Given the description of an element on the screen output the (x, y) to click on. 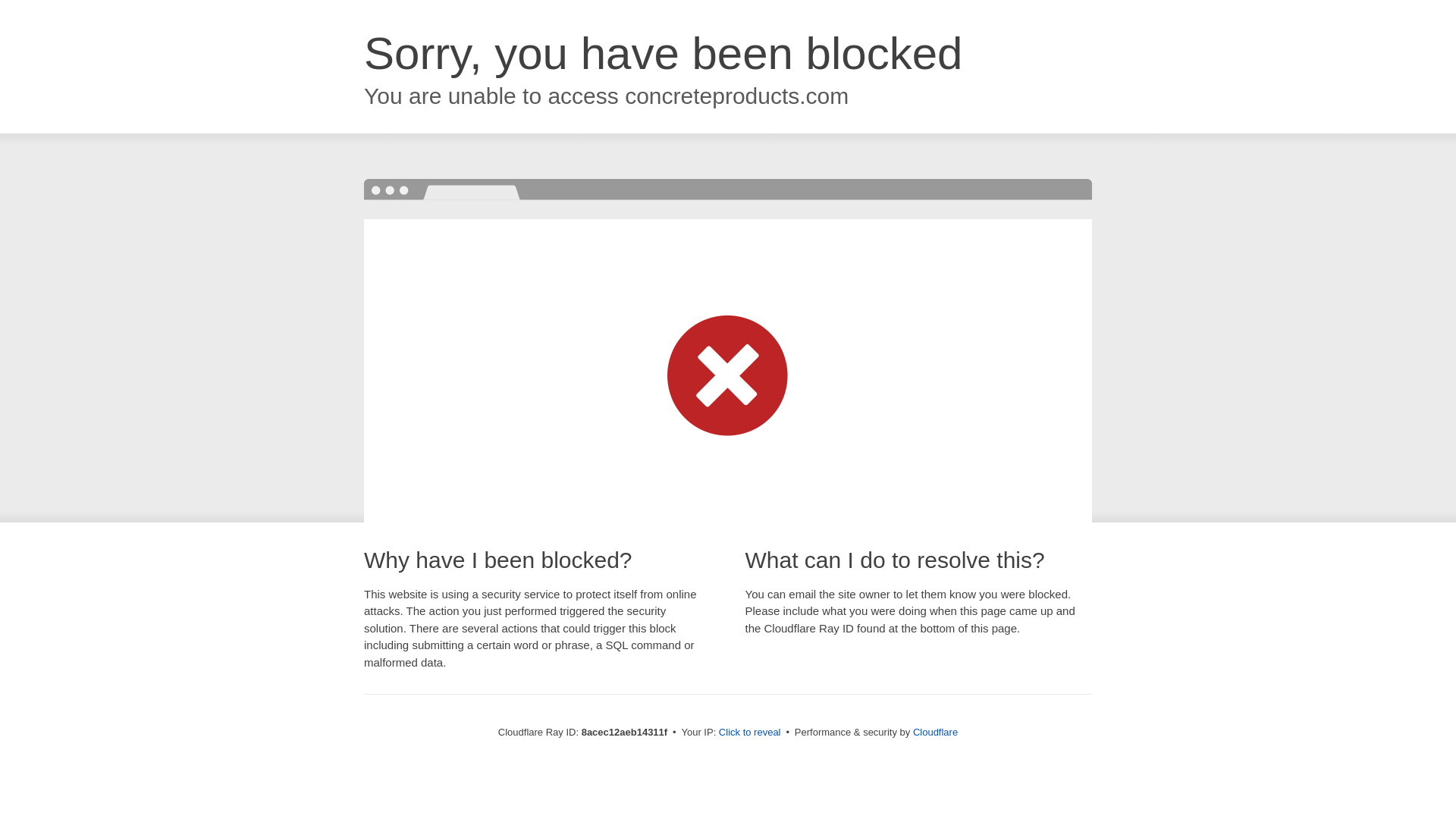
Cloudflare (935, 731)
Click to reveal (749, 732)
